Given the description of an element on the screen output the (x, y) to click on. 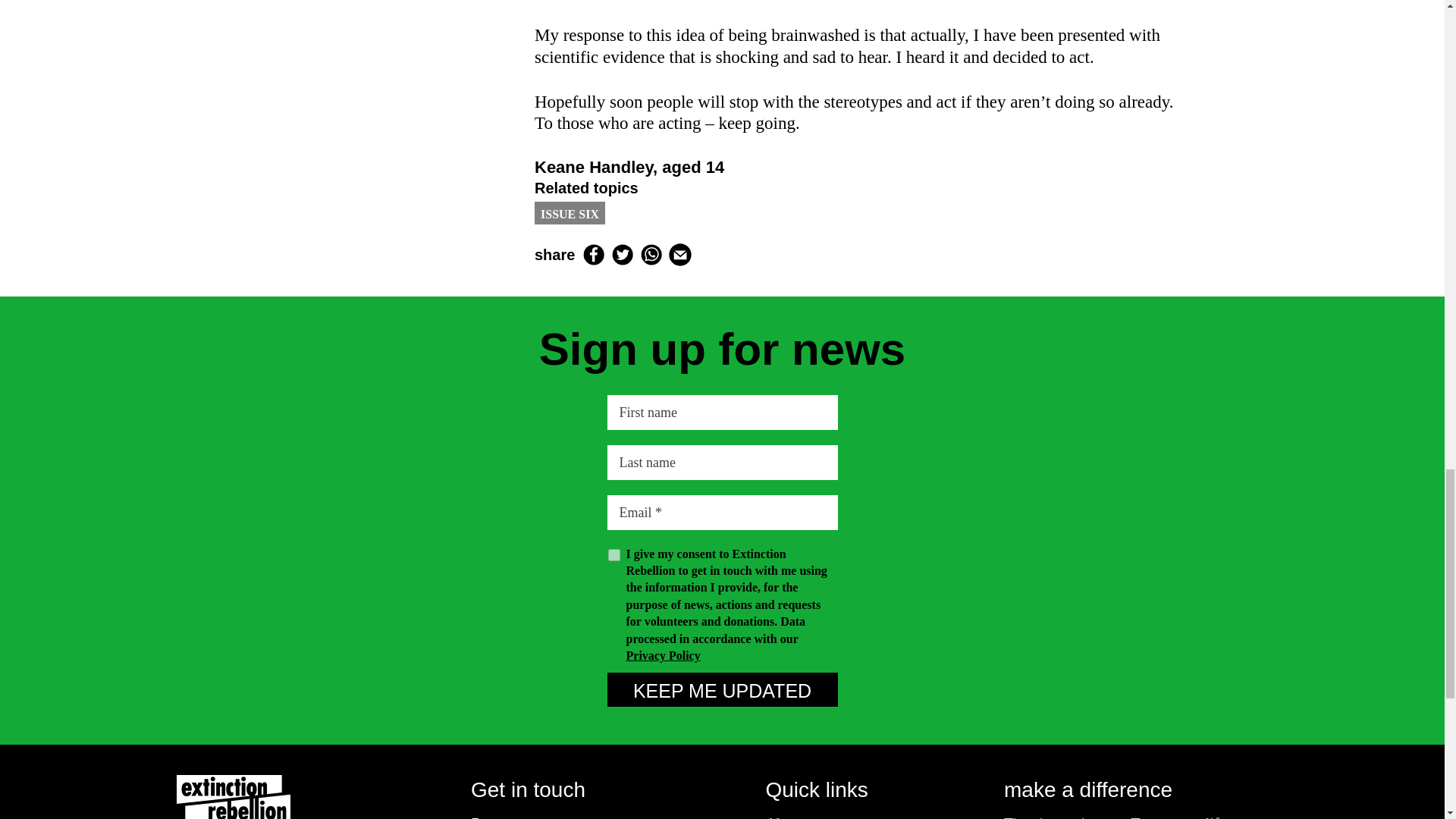
Yes (614, 554)
Keep me updated (722, 689)
